Given the description of an element on the screen output the (x, y) to click on. 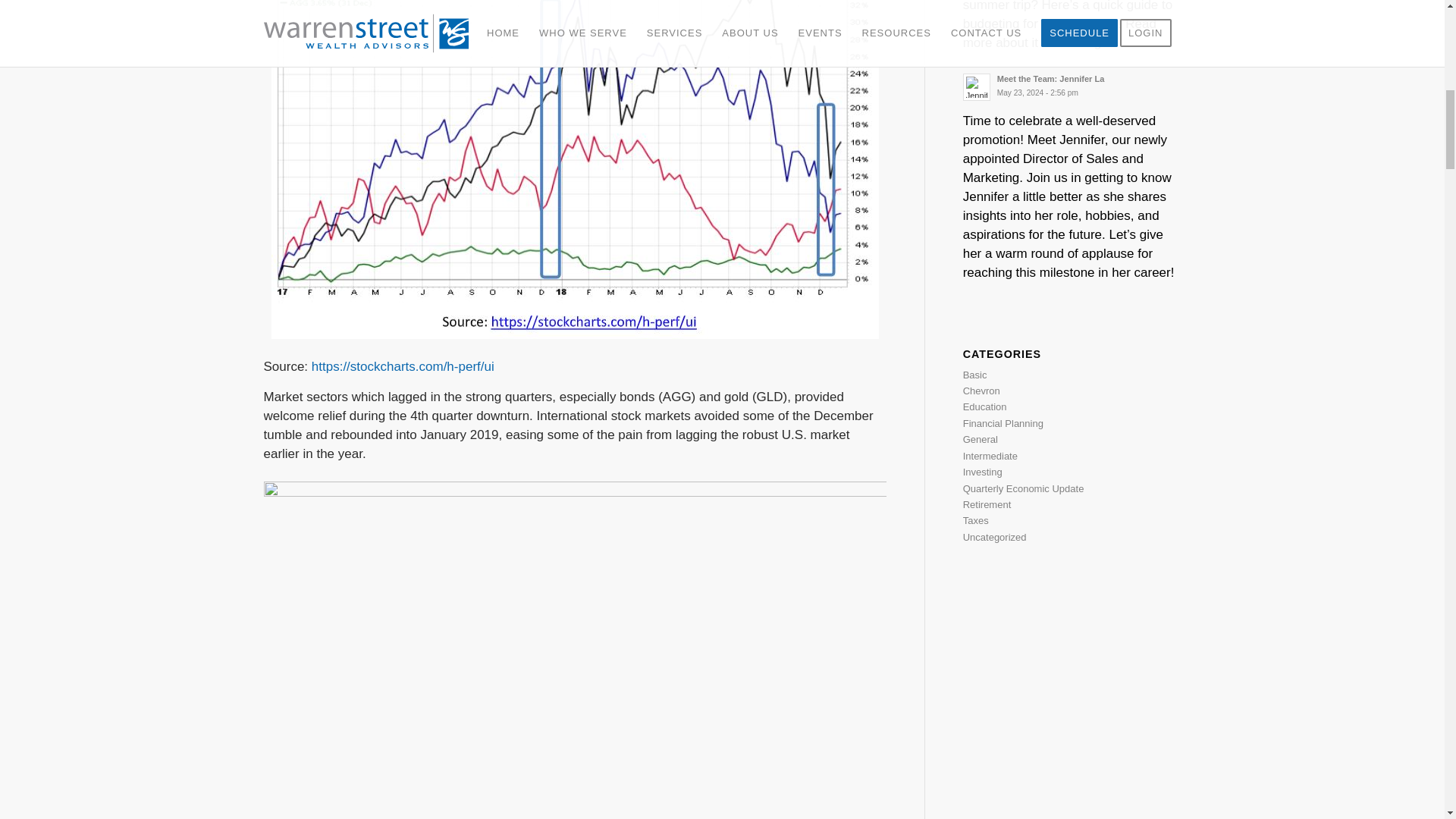
Chevron (981, 390)
Basic (974, 374)
Financial Planning (1071, 85)
Education (1002, 423)
Meet the Team: Jennifer La (984, 406)
Intermediate (1071, 85)
General (989, 455)
